Given the description of an element on the screen output the (x, y) to click on. 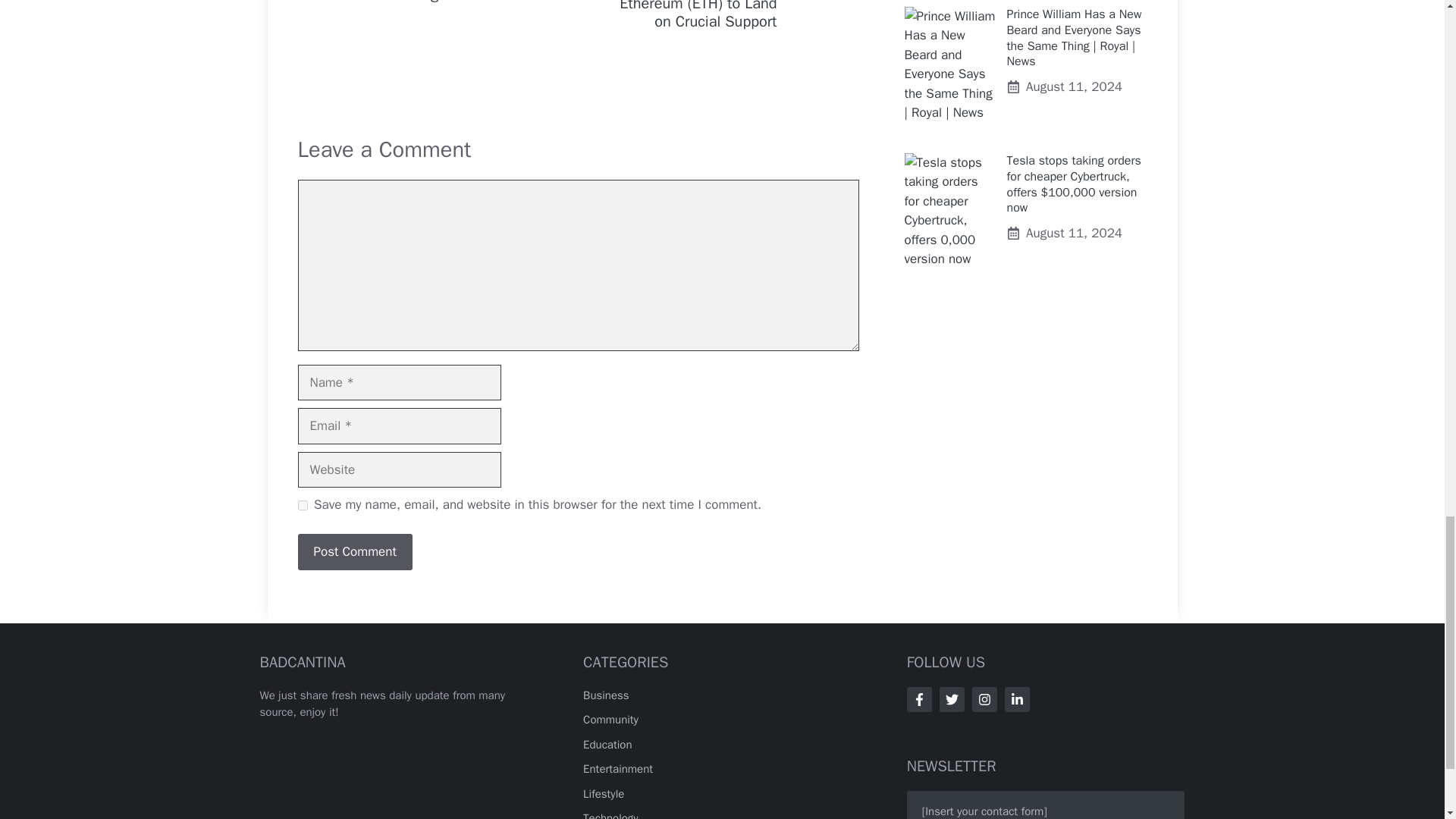
Post Comment (354, 551)
Technology (611, 815)
Business (605, 694)
Entertainment (617, 768)
yes (302, 505)
Community (611, 719)
Lifestyle (603, 793)
Post Comment (354, 551)
Education (607, 744)
